Given the description of an element on the screen output the (x, y) to click on. 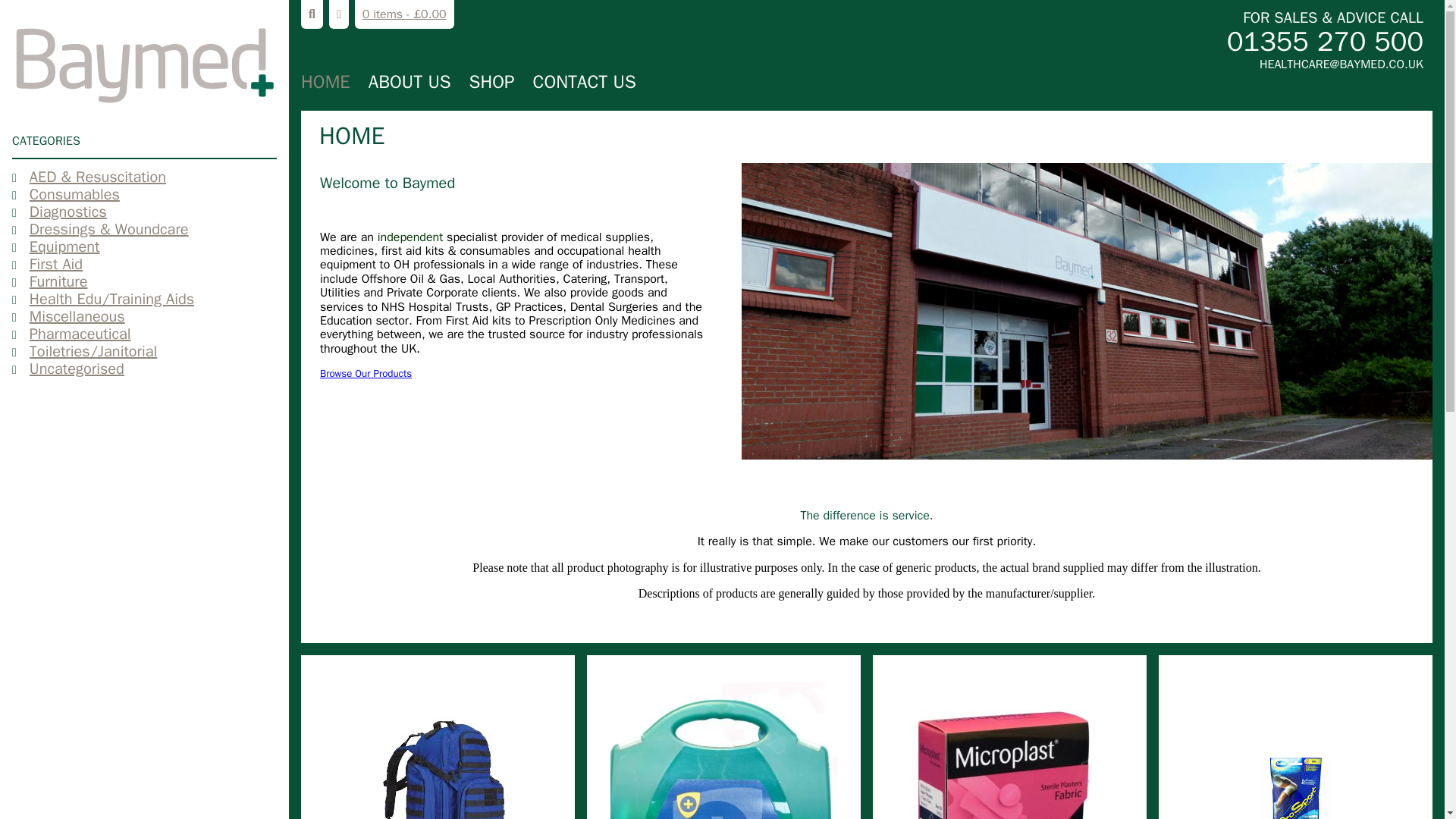
First Aid (51, 263)
Shop (491, 81)
01355 270 500 (1144, 41)
Diagnostics (63, 211)
Furniture (53, 281)
Home (325, 81)
View your shopping cart (404, 14)
Equipment (60, 246)
Pharmaceutical (75, 333)
Contact Us (584, 81)
About Us (409, 81)
Miscellaneous (72, 316)
Consumables (69, 194)
Uncategorised (71, 368)
